Given the description of an element on the screen output the (x, y) to click on. 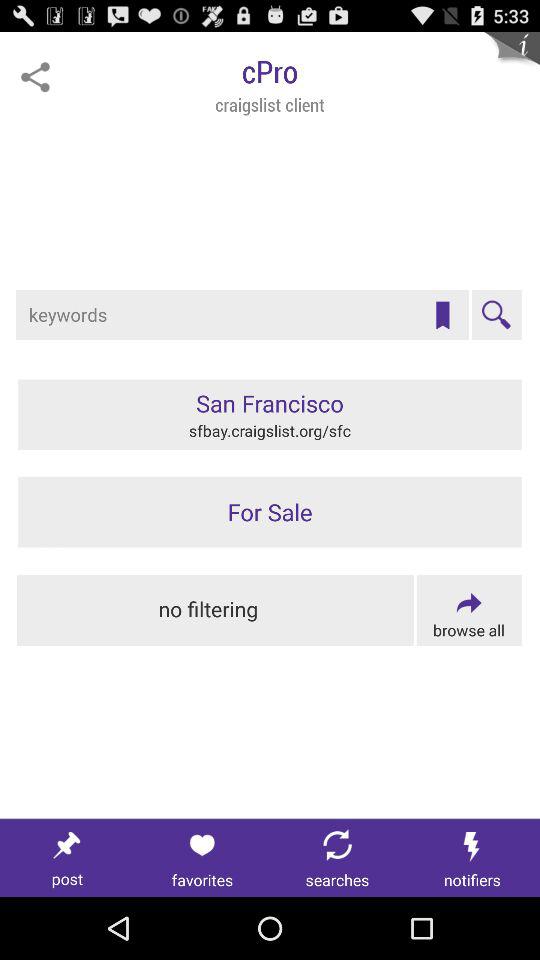
share (35, 77)
